Given the description of an element on the screen output the (x, y) to click on. 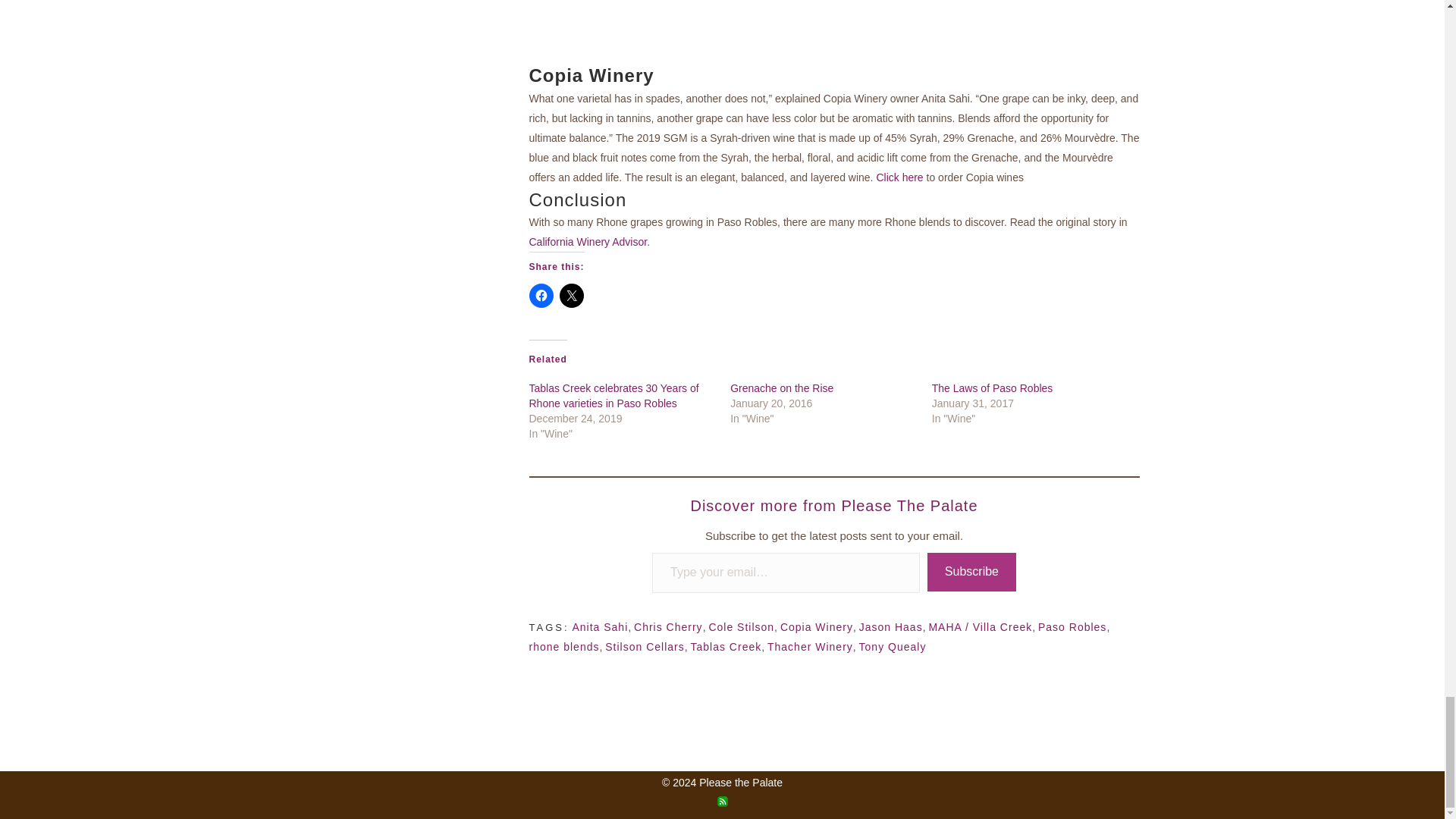
Click to share on X (571, 295)
Grenache on the Rise (781, 387)
Click to share on Facebook (541, 295)
The Laws of Paso Robles (991, 387)
Please fill in this field. (786, 572)
